Given the description of an element on the screen output the (x, y) to click on. 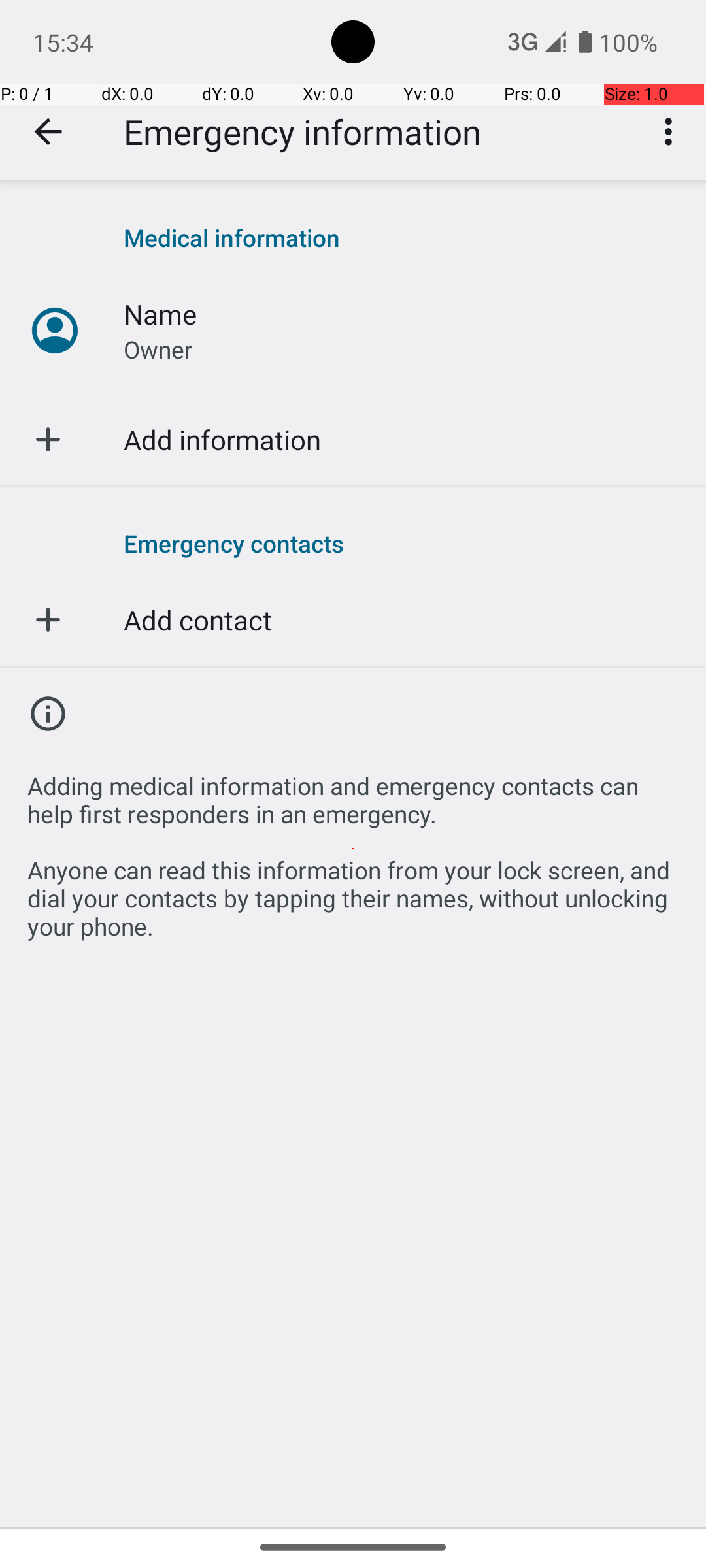
Emergency information Element type: android.widget.TextView (302, 131)
Medical information Element type: android.widget.TextView (400, 237)
Owner Element type: android.widget.TextView (157, 348)
Add information Element type: android.widget.TextView (221, 438)
Emergency contacts Element type: android.widget.TextView (400, 542)
Add contact Element type: android.widget.TextView (197, 619)
Adding medical information and emergency contacts can help first responders in an emergency.

Anyone can read this information from your lock screen, and dial your contacts by tapping their names, without unlocking your phone. Element type: android.widget.TextView (352, 848)
